Given the description of an element on the screen output the (x, y) to click on. 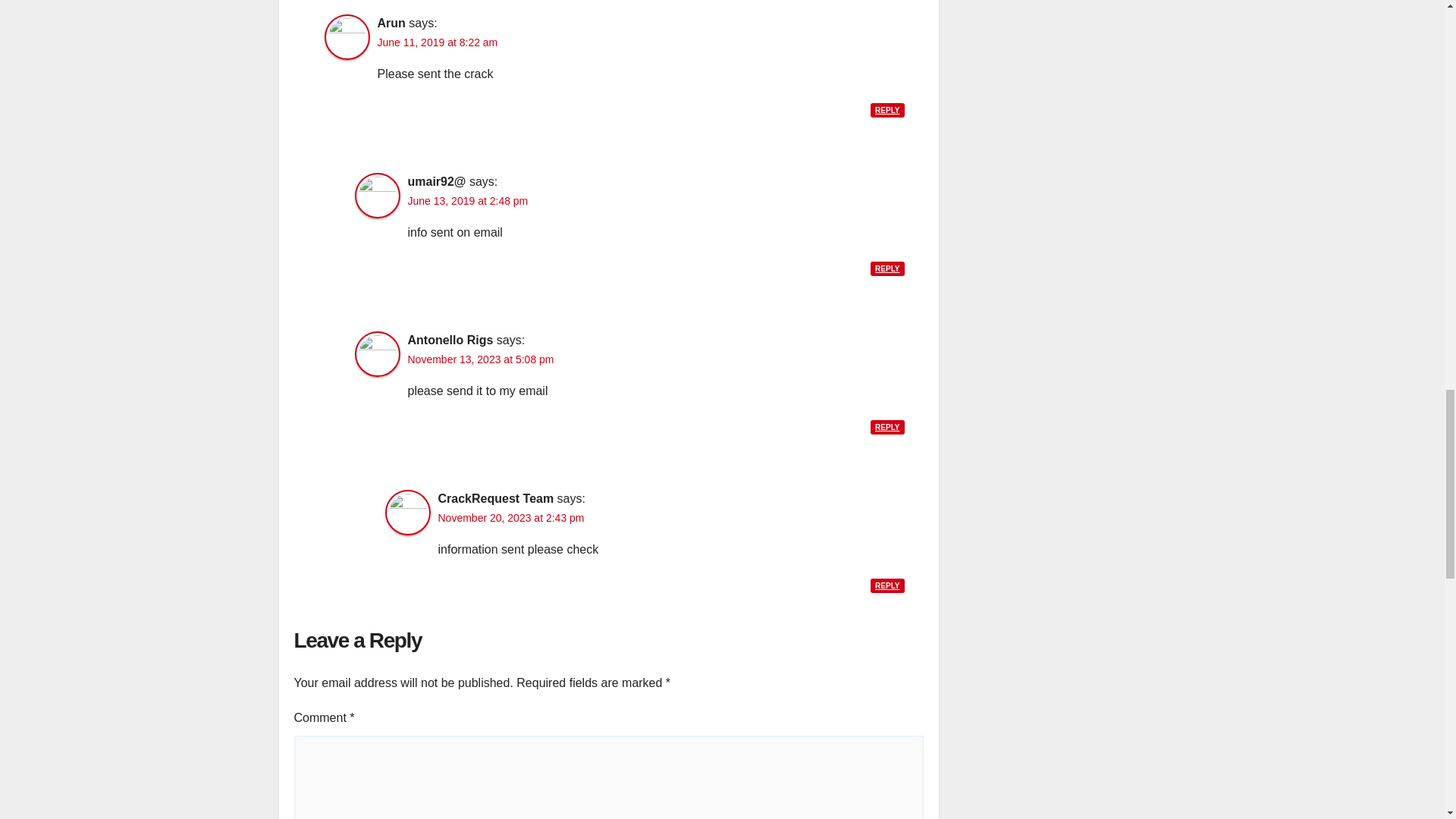
November 20, 2023 at 2:43 pm (511, 518)
REPLY (887, 110)
November 13, 2023 at 5:08 pm (480, 359)
REPLY (887, 427)
REPLY (887, 268)
June 11, 2019 at 8:22 am (437, 42)
June 13, 2019 at 2:48 pm (467, 201)
